Given the description of an element on the screen output the (x, y) to click on. 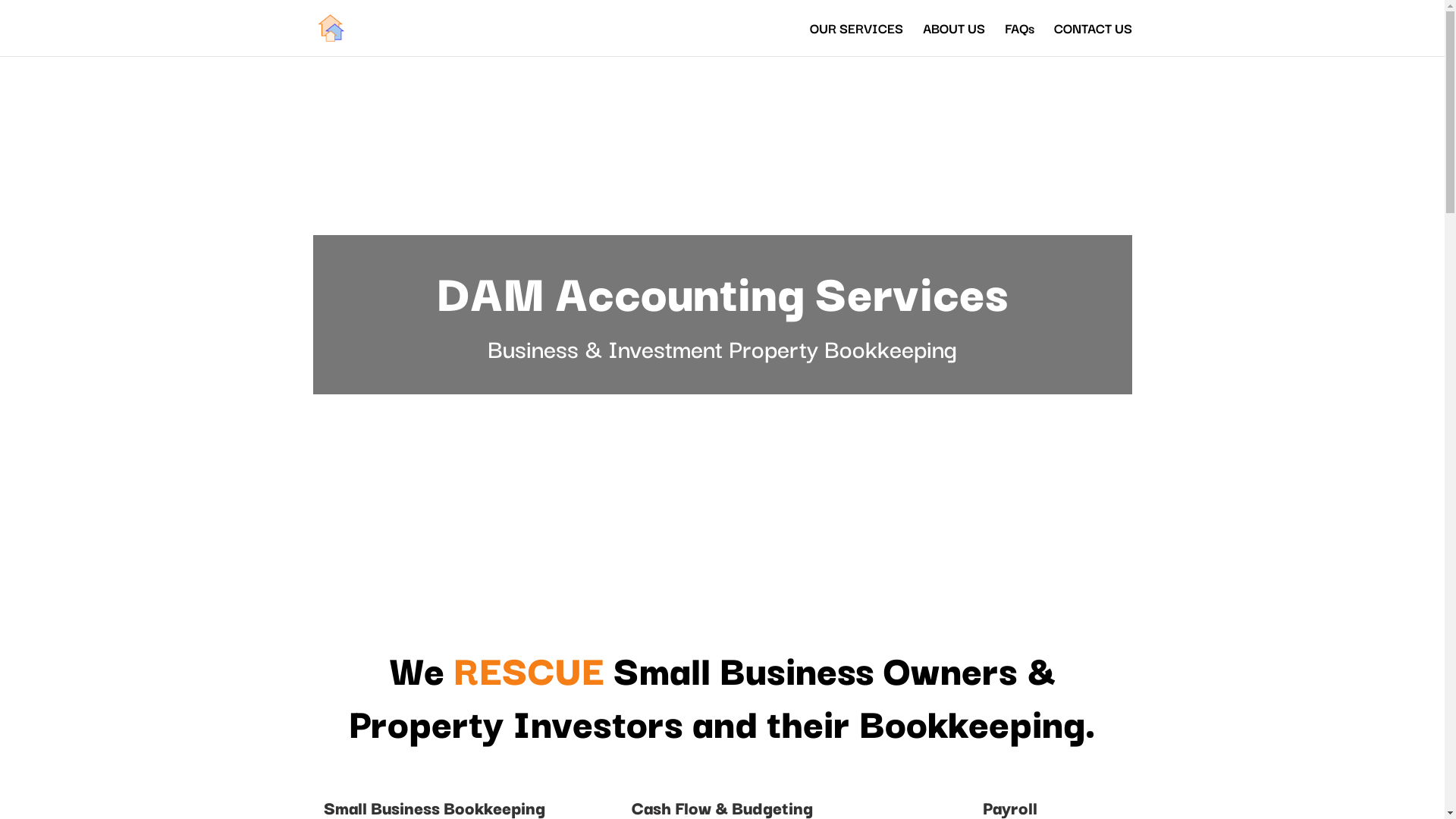
CONTACT US Element type: text (1093, 39)
OUR SERVICES Element type: text (856, 39)
FAQs Element type: text (1018, 39)
ABOUT US Element type: text (953, 39)
